Given the description of an element on the screen output the (x, y) to click on. 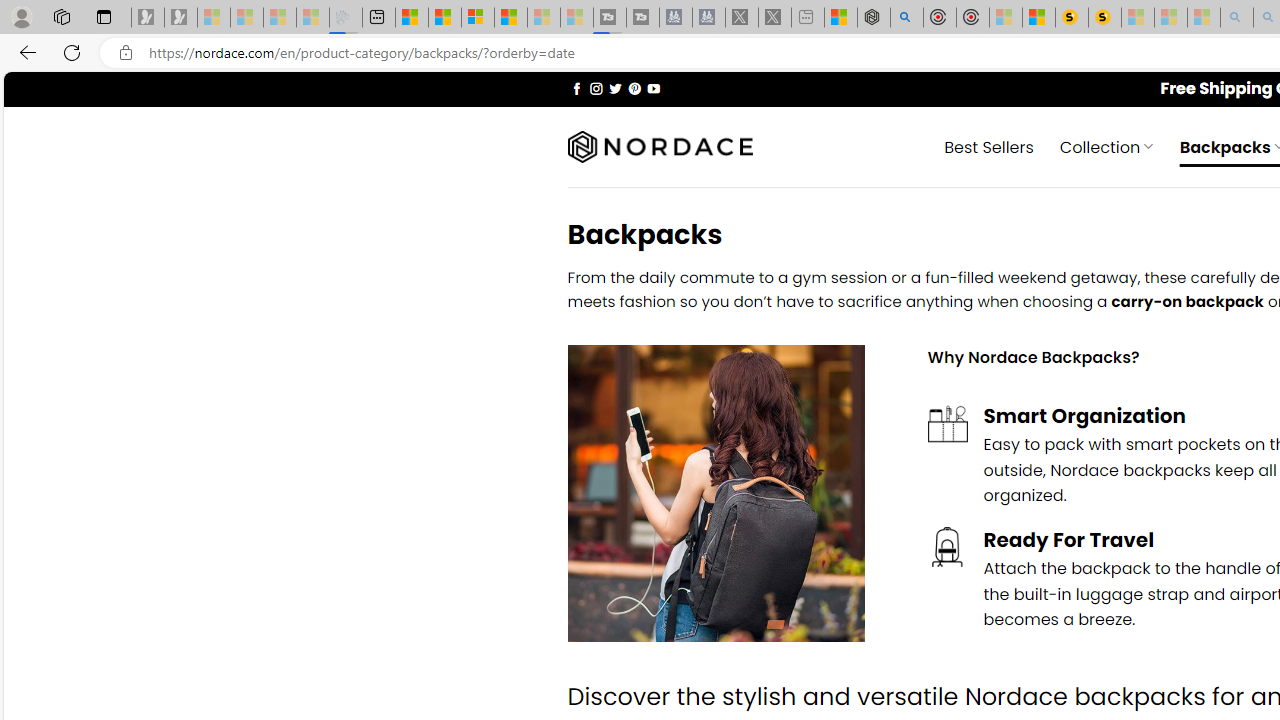
Newsletter Sign Up - Sleeping (181, 17)
 Best Sellers (989, 146)
amazon - Search - Sleeping (1237, 17)
New tab - Sleeping (808, 17)
Follow on YouTube (653, 88)
X - Sleeping (775, 17)
Microsoft Start - Sleeping (543, 17)
Nordace - Summer Adventures 2024 (873, 17)
